Given the description of an element on the screen output the (x, y) to click on. 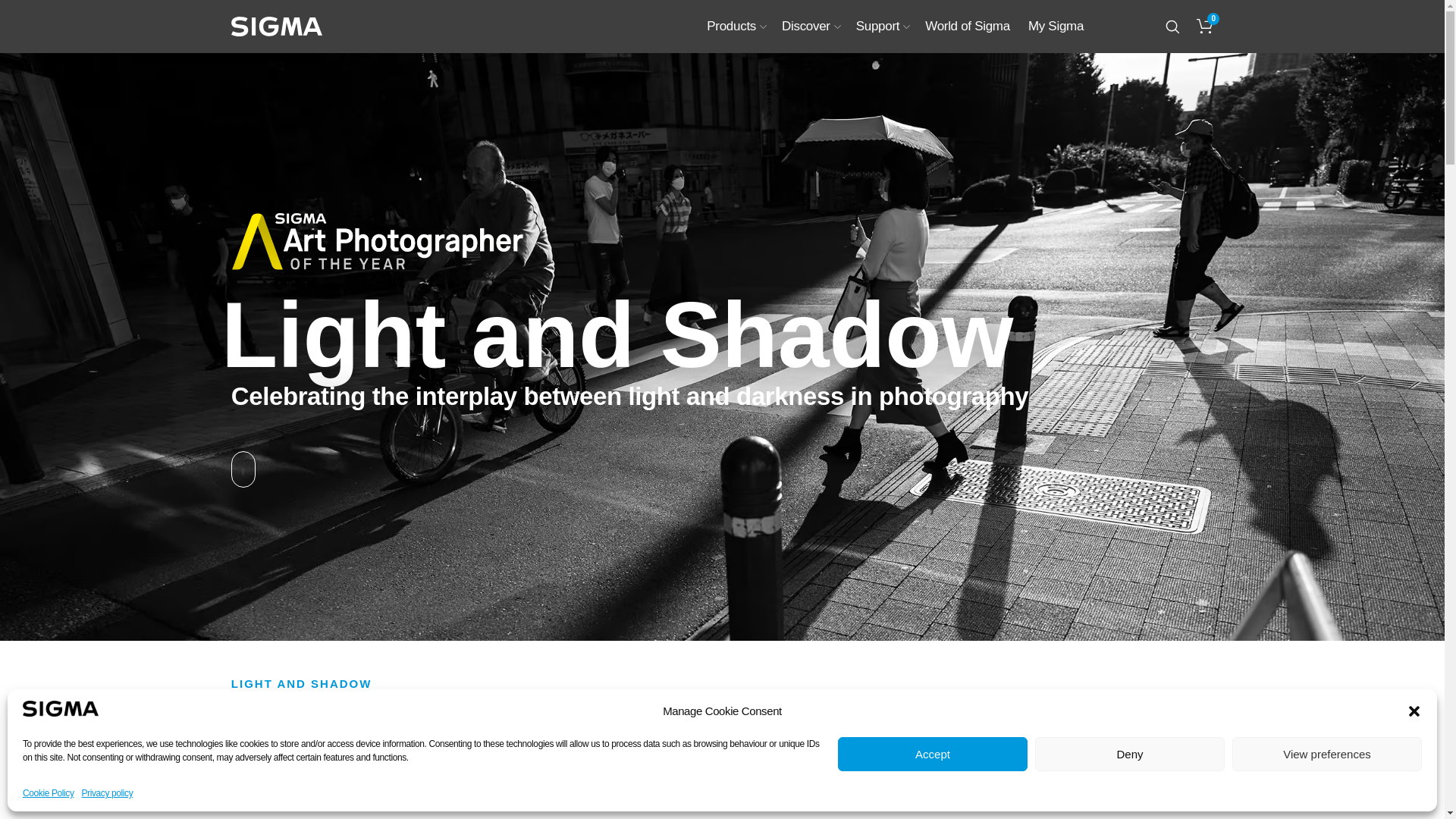
View preferences (1326, 754)
Accept (932, 754)
Deny (1129, 754)
Cookie Policy (48, 793)
Discover (811, 26)
Products (736, 26)
My Sigma (1055, 26)
World of Sigma (967, 26)
Privacy policy (107, 793)
Support (882, 26)
0 (1198, 26)
